Given the description of an element on the screen output the (x, y) to click on. 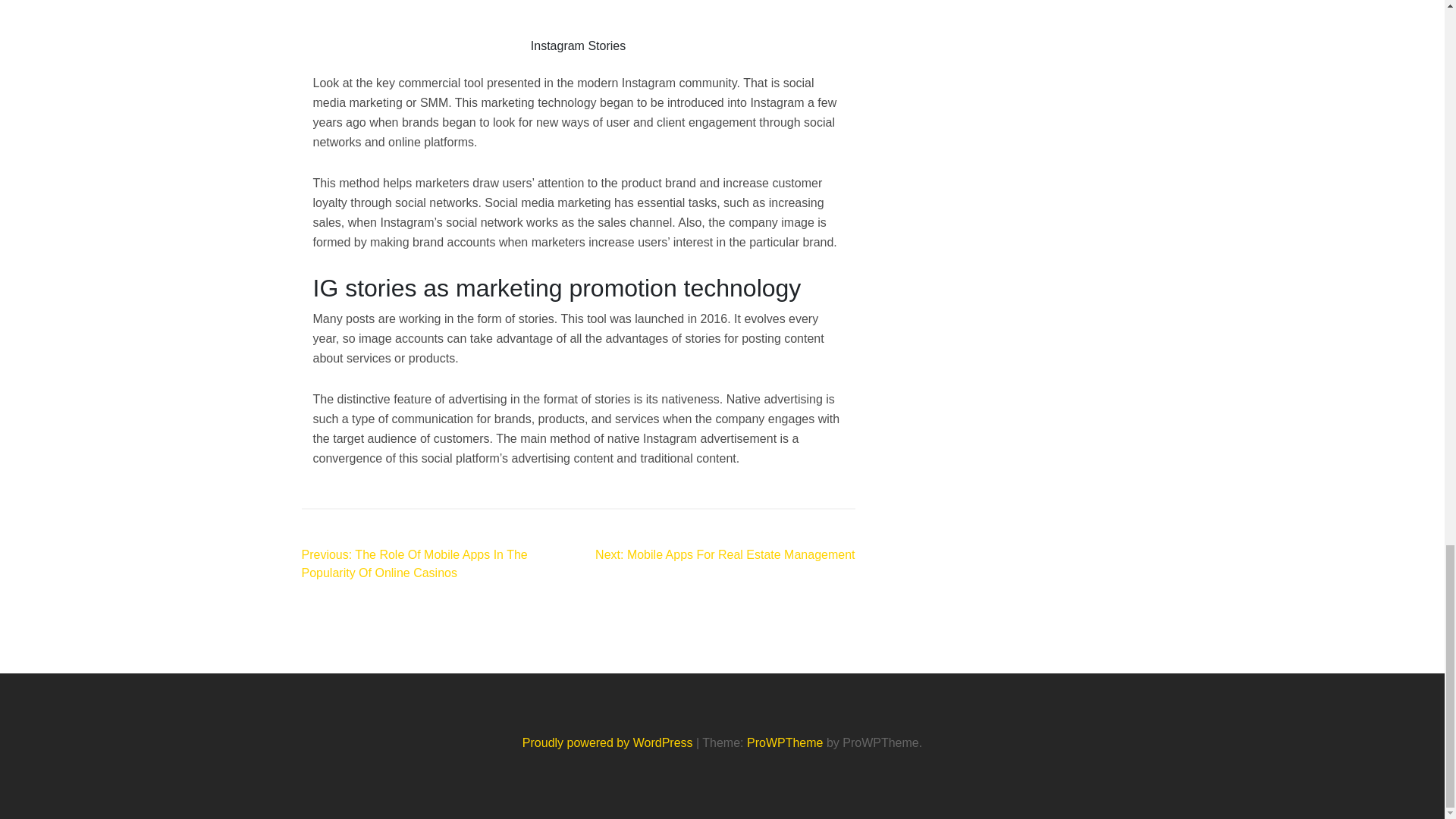
Proudly powered by WordPress (608, 742)
Next: Mobile Apps For Real Estate Management (724, 554)
ProWPTheme (784, 742)
